Given the description of an element on the screen output the (x, y) to click on. 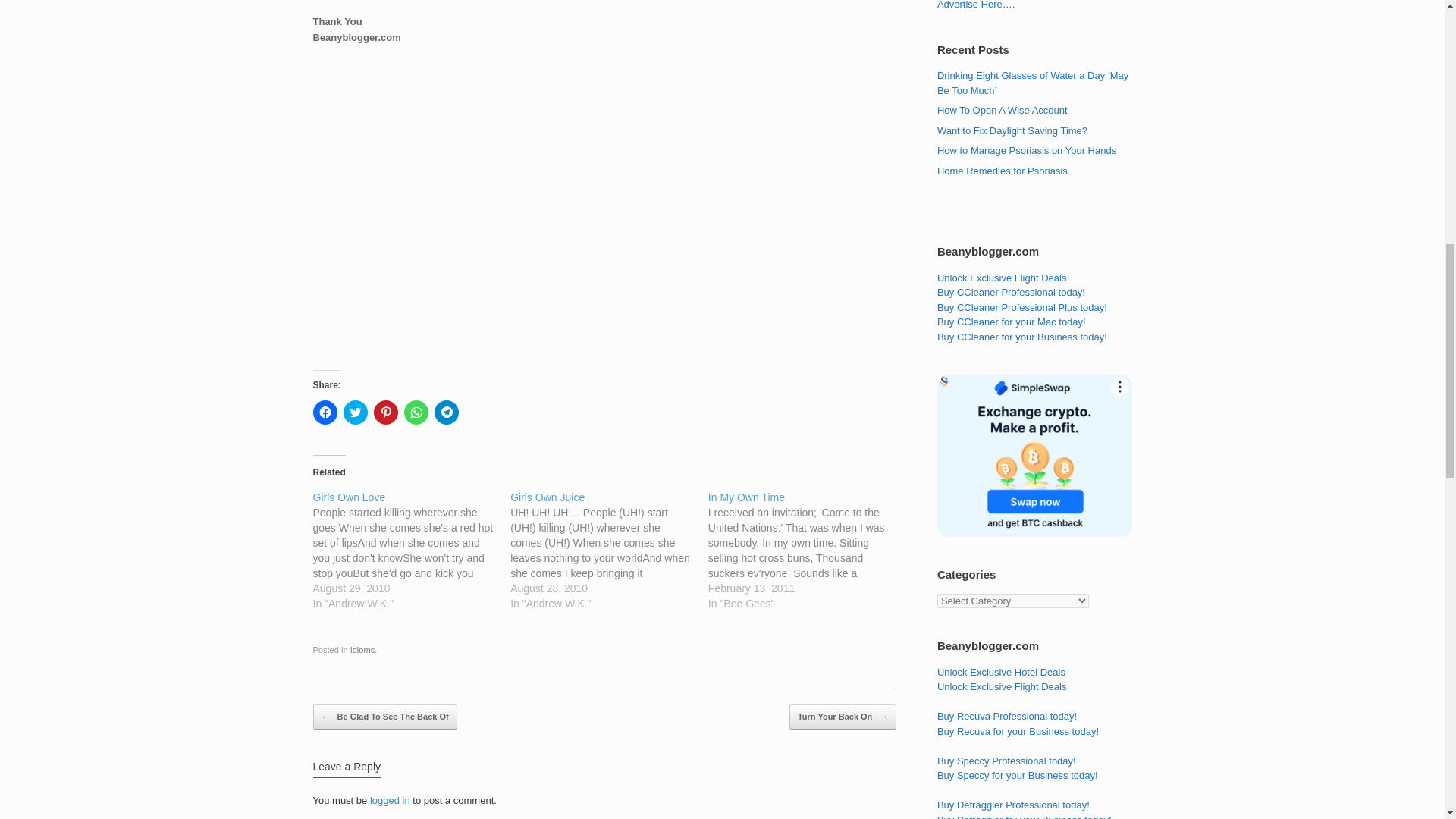
Girls Own Juice (548, 497)
Click to share on WhatsApp (415, 412)
Girls Own Love (412, 549)
Girls Own Juice (609, 549)
Click to share on Twitter (354, 412)
In My Own Time (806, 549)
Girls Own Love (349, 497)
Click to share on Facebook (324, 412)
Click to share on Telegram (445, 412)
Click to share on Pinterest (384, 412)
